Given the description of an element on the screen output the (x, y) to click on. 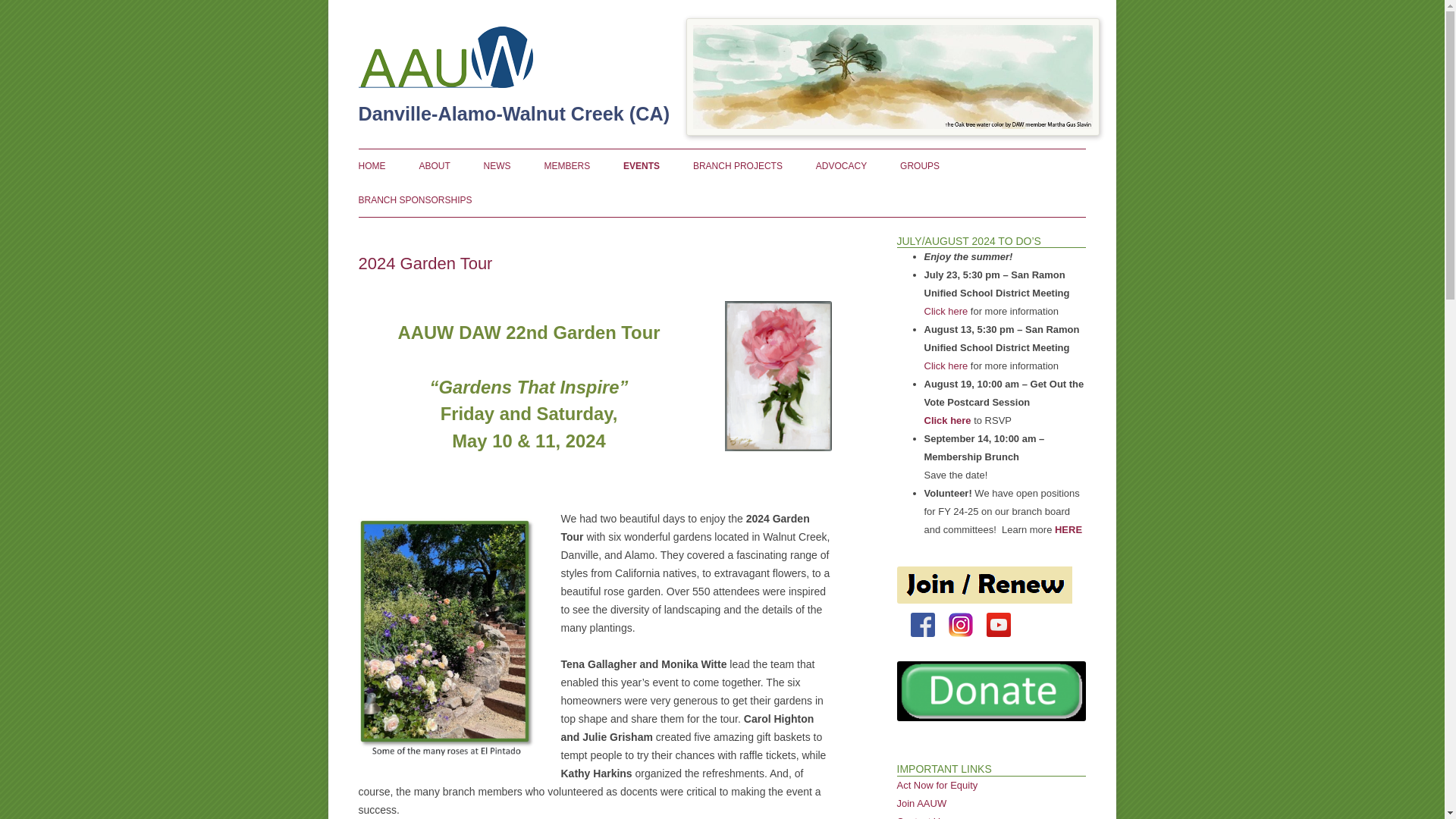
ABOUT (434, 165)
MEMBERS (566, 165)
EVENTS (641, 165)
BRANCH PROJECTS (738, 165)
